Given the description of an element on the screen output the (x, y) to click on. 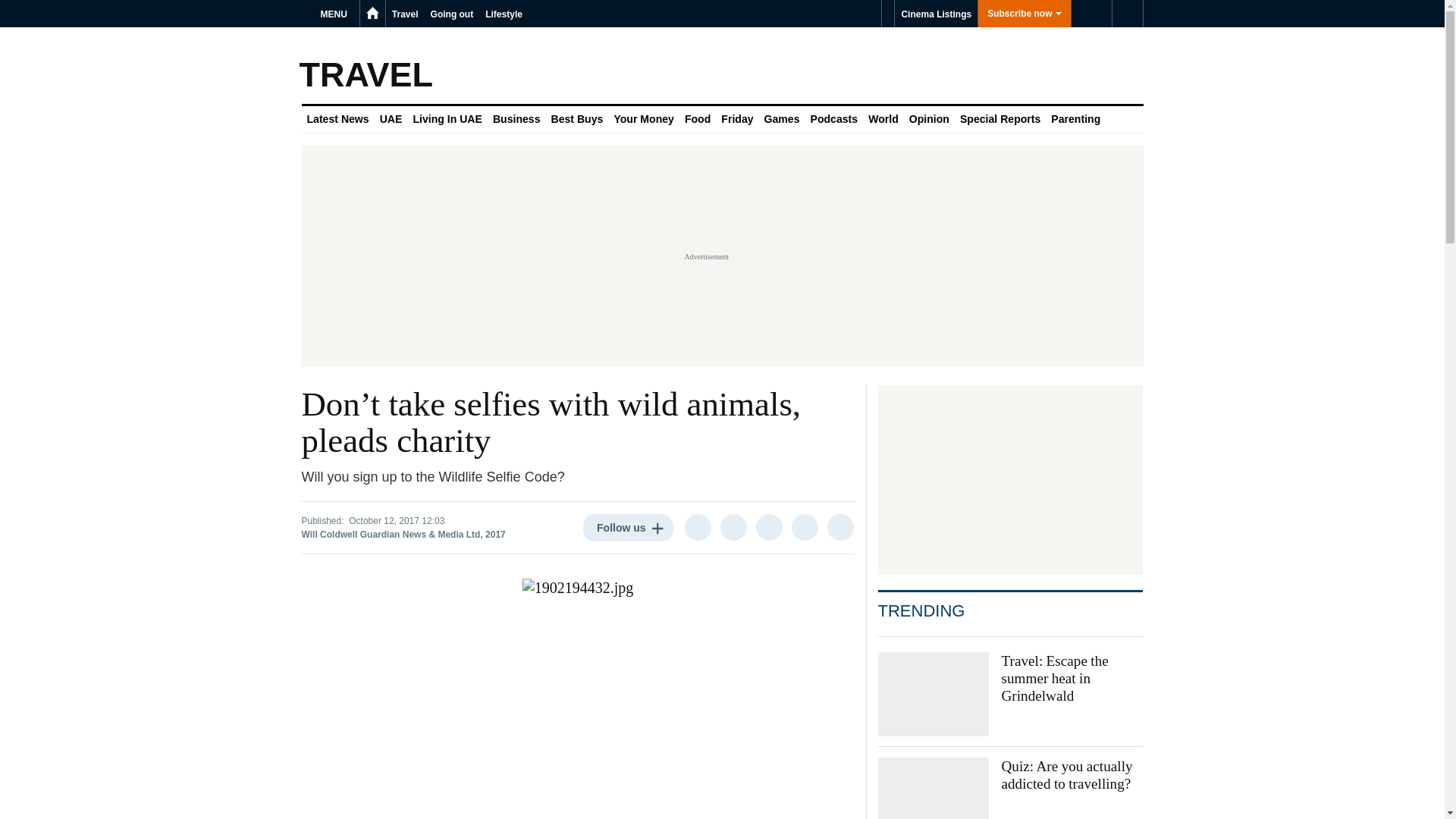
Cinema Listings (935, 13)
MENU (336, 13)
Travel (405, 13)
Lifestyle (503, 13)
Subscribe now (1024, 13)
Going out (452, 13)
